Given the description of an element on the screen output the (x, y) to click on. 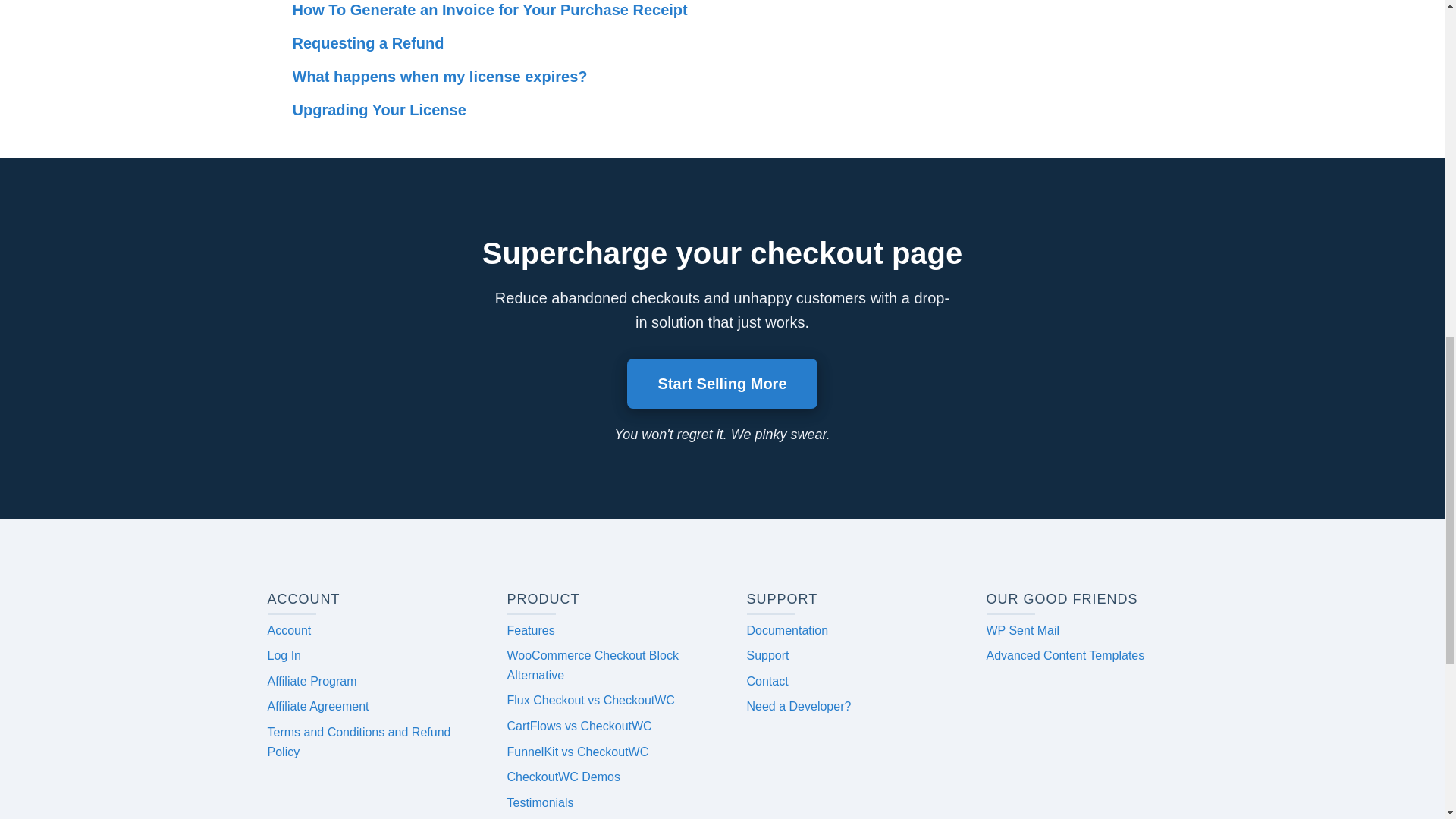
WP Sent Mail (1022, 630)
Documentation (786, 630)
Affiliate Program (311, 680)
Need a Developer? (797, 706)
Terms and Conditions and Refund Policy (357, 741)
Start Selling More (721, 383)
Advanced Content Templates (1064, 655)
Support (767, 655)
How To Generate an Invoice for Your Purchase Receipt (722, 11)
Upgrading Your License (722, 109)
